Given the description of an element on the screen output the (x, y) to click on. 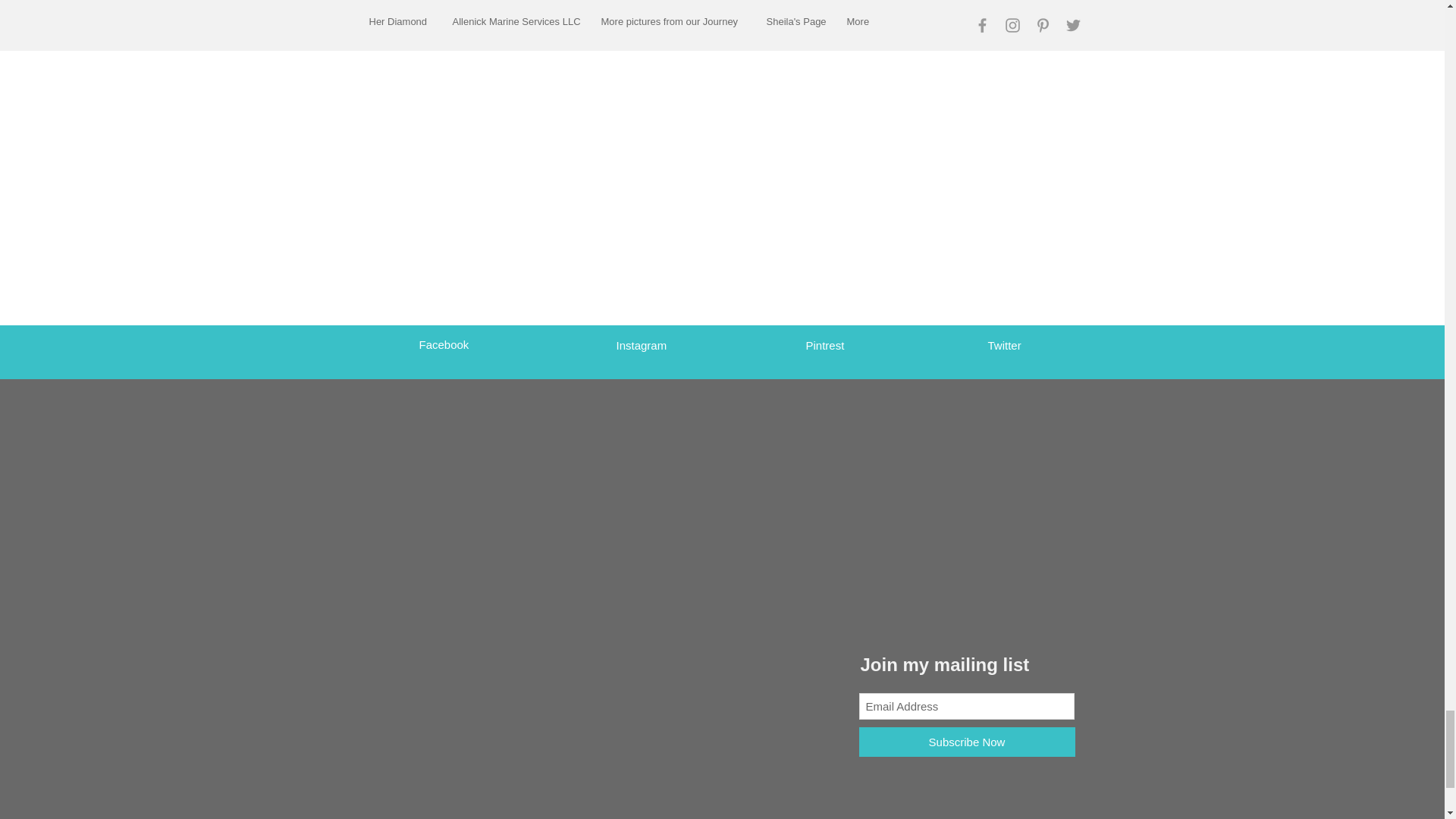
Twitter (1003, 345)
Facebook (443, 344)
Instagram (640, 345)
Subscribe Now (966, 741)
Pintrest (824, 345)
